Given the description of an element on the screen output the (x, y) to click on. 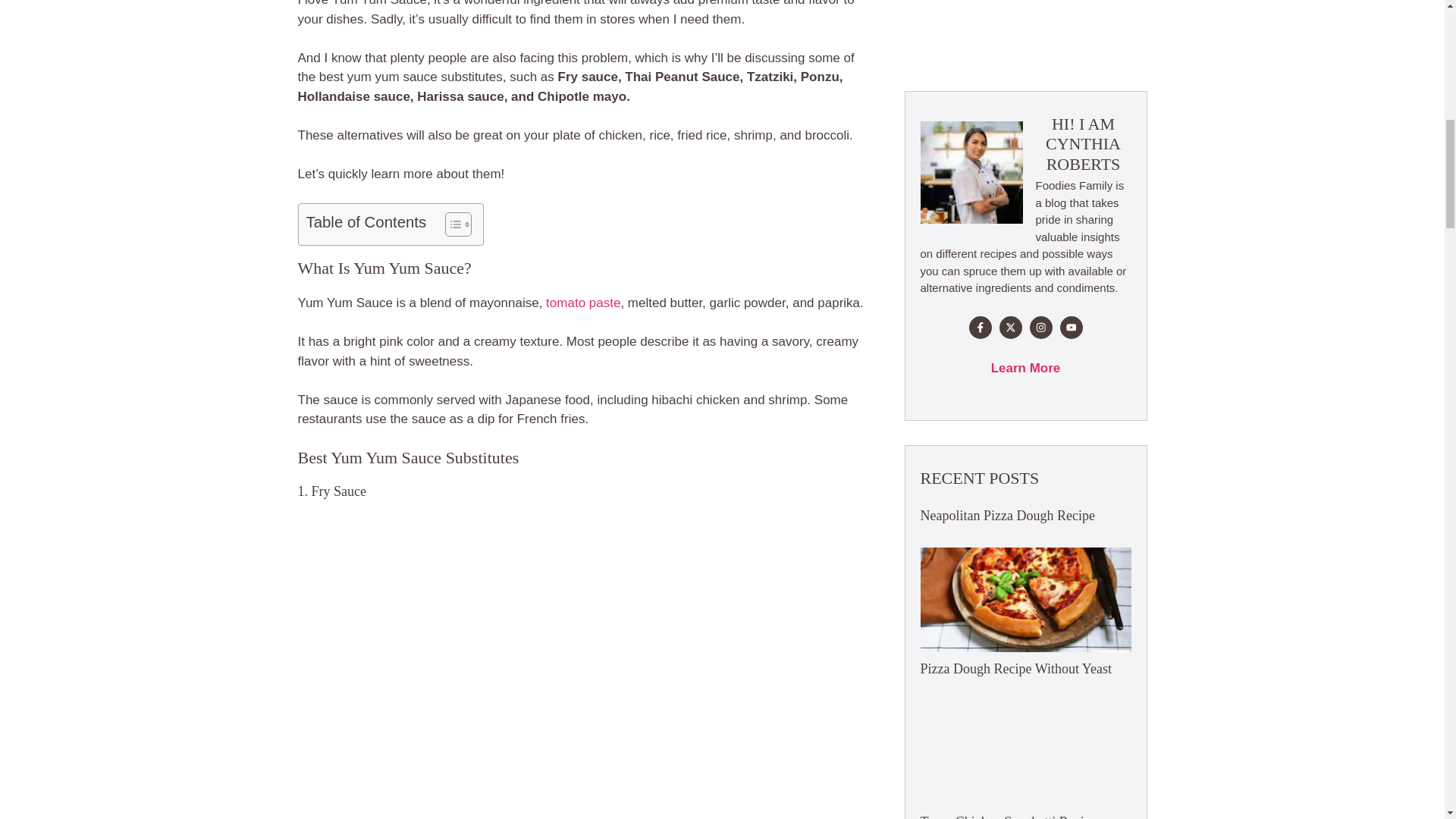
tomato paste (583, 302)
